Given the description of an element on the screen output the (x, y) to click on. 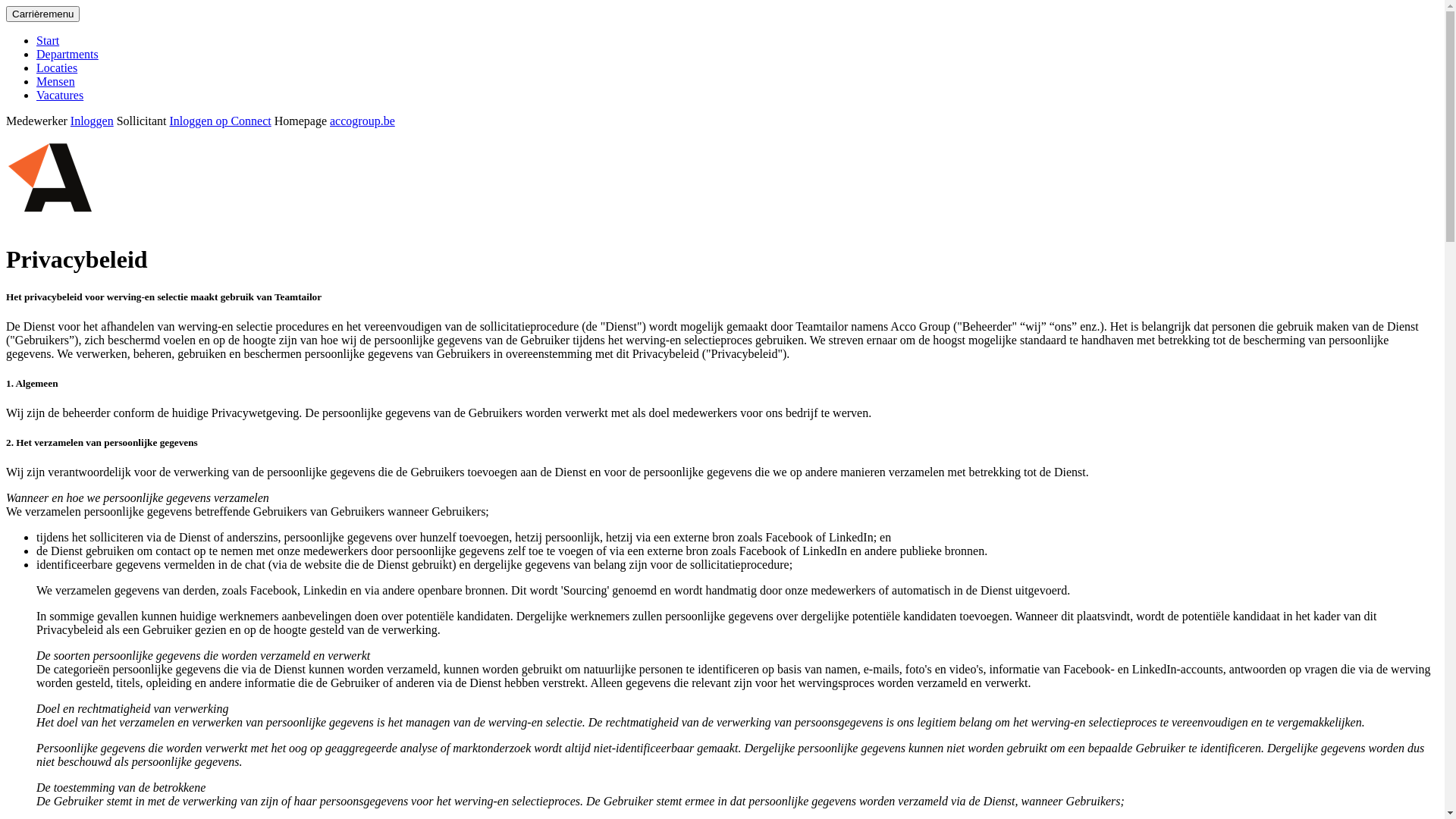
Mensen Element type: text (55, 81)
Start Element type: text (47, 40)
Locaties Element type: text (56, 67)
accogroup.be Element type: text (362, 120)
Departments Element type: text (67, 53)
Inloggen op Connect Element type: text (220, 120)
Inloggen Element type: text (91, 120)
Vacatures Element type: text (59, 94)
